Given the description of an element on the screen output the (x, y) to click on. 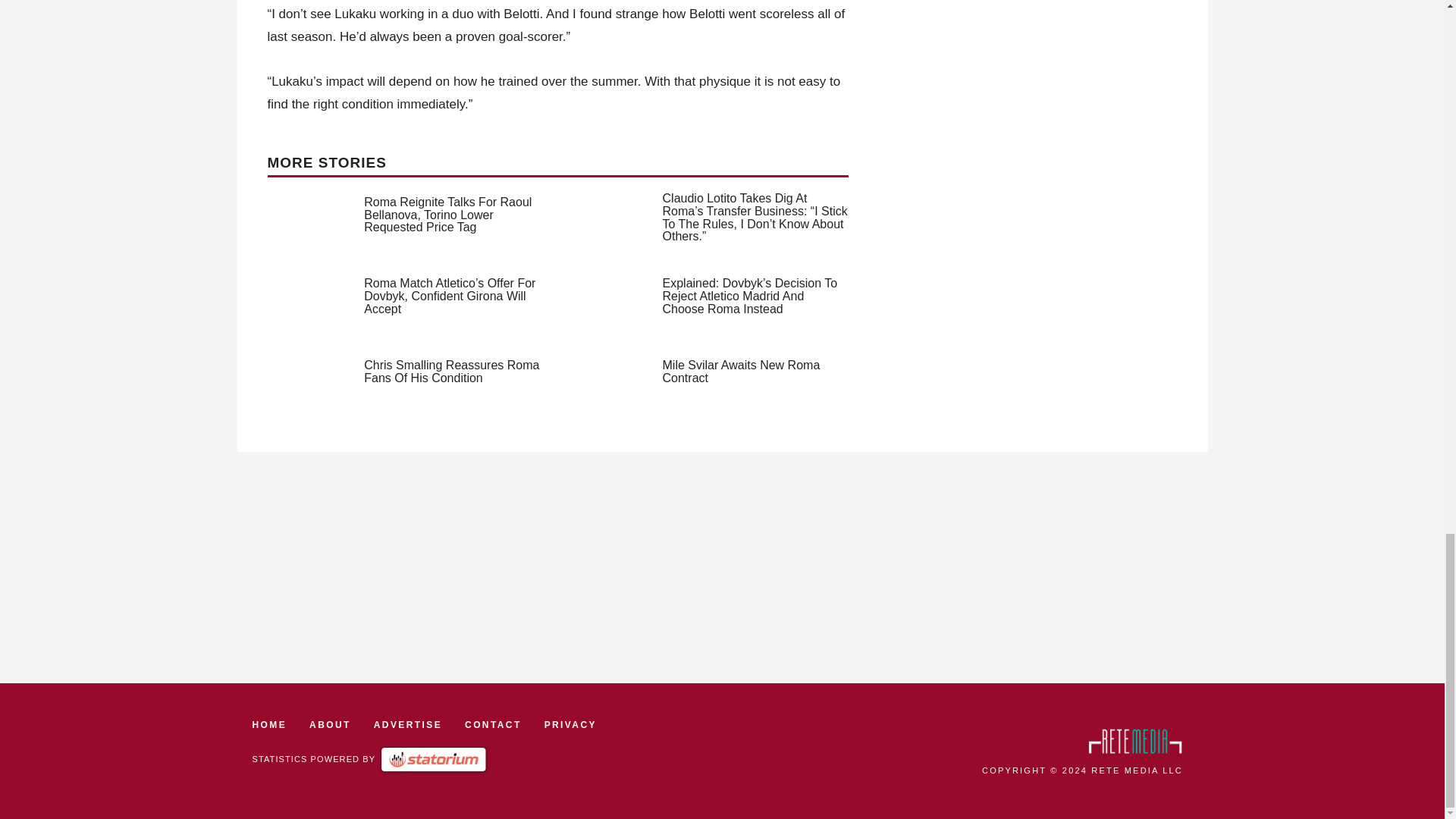
CONTACT (492, 725)
Mile Svilar Awaits New Roma Contract (741, 371)
HOME (268, 725)
ABOUT (329, 725)
PRIVACY (570, 725)
Chris Smalling Reassures Roma Fans Of His Condition (451, 371)
ADVERTISE (408, 725)
X (1434, 87)
